Given the description of an element on the screen output the (x, y) to click on. 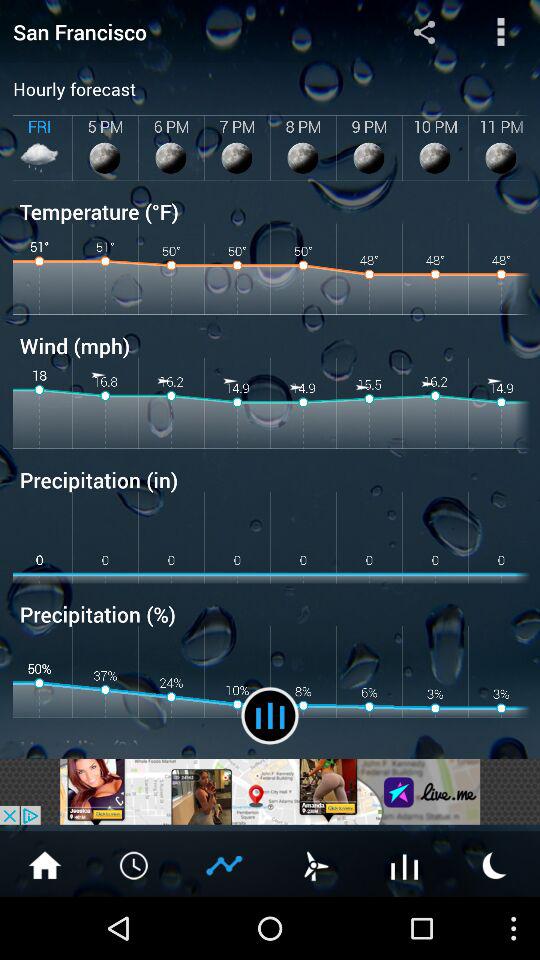
go to home (45, 864)
